Given the description of an element on the screen output the (x, y) to click on. 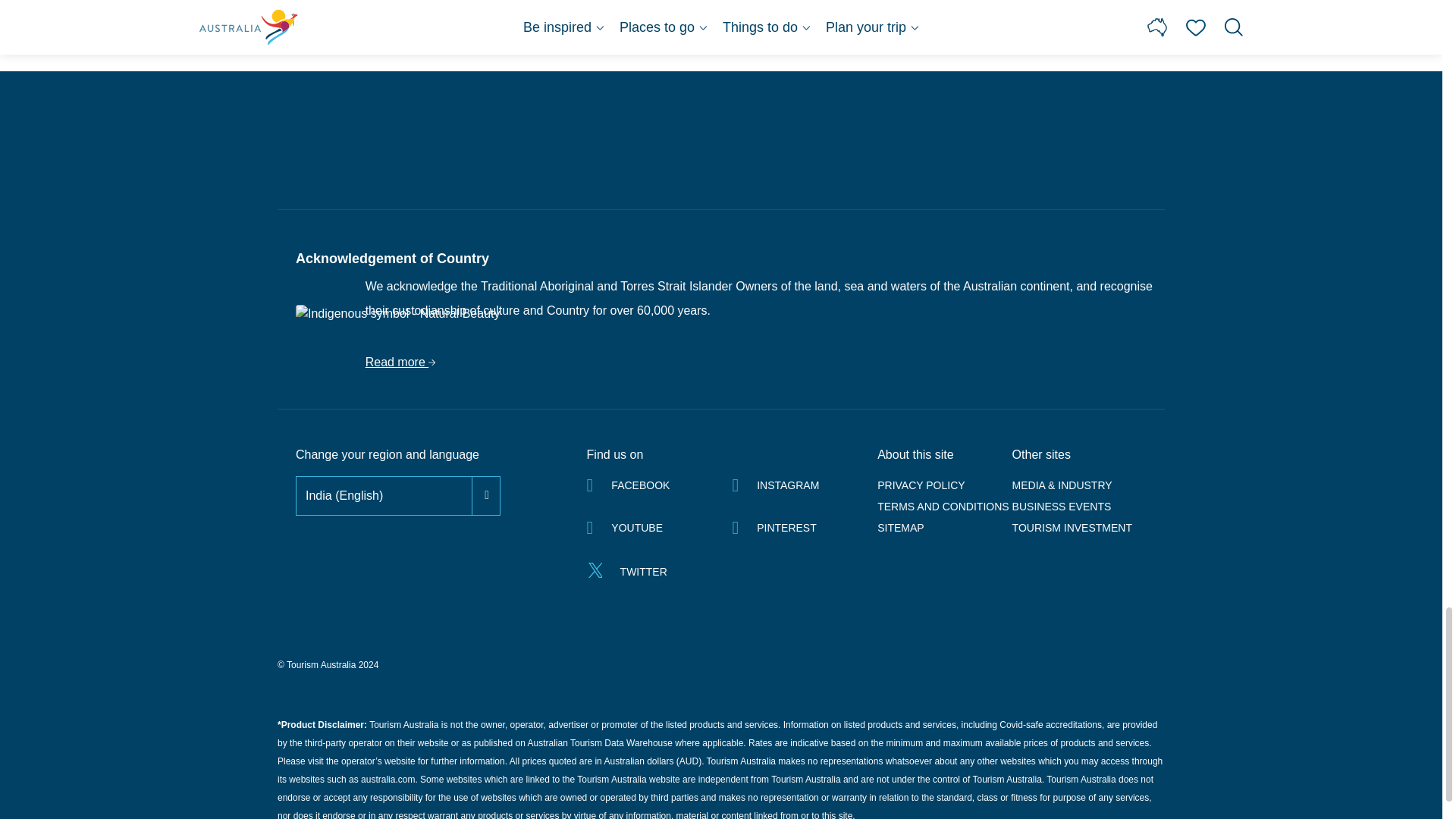
Explore Australia's states and territories (720, 8)
on (297, 478)
